Given the description of an element on the screen output the (x, y) to click on. 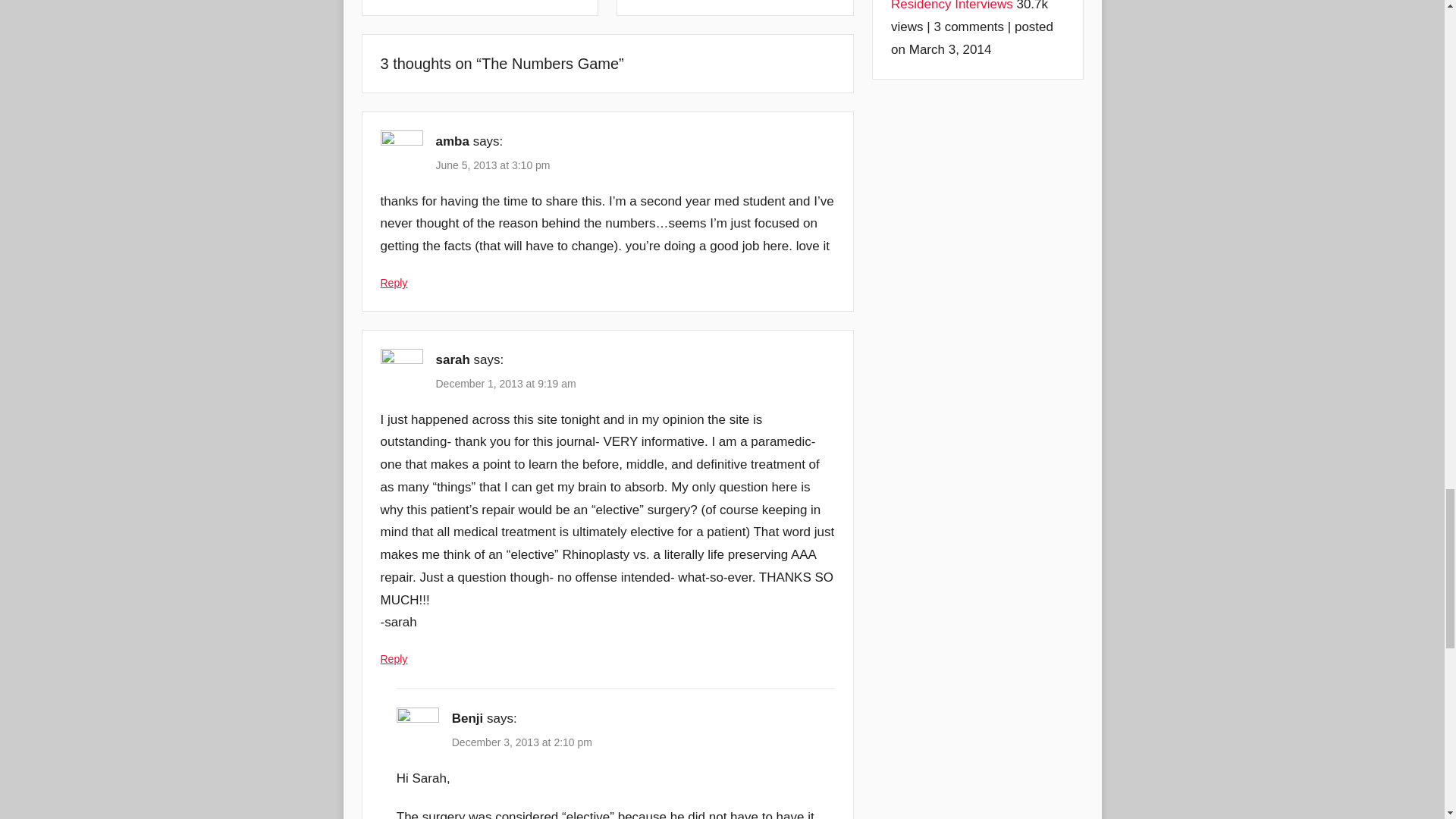
December 1, 2013 at 9:19 am (505, 383)
December 3, 2013 at 2:10 pm (521, 742)
June 5, 2013 at 3:10 pm (492, 164)
Reply (393, 282)
Reply (393, 658)
